Given the description of an element on the screen output the (x, y) to click on. 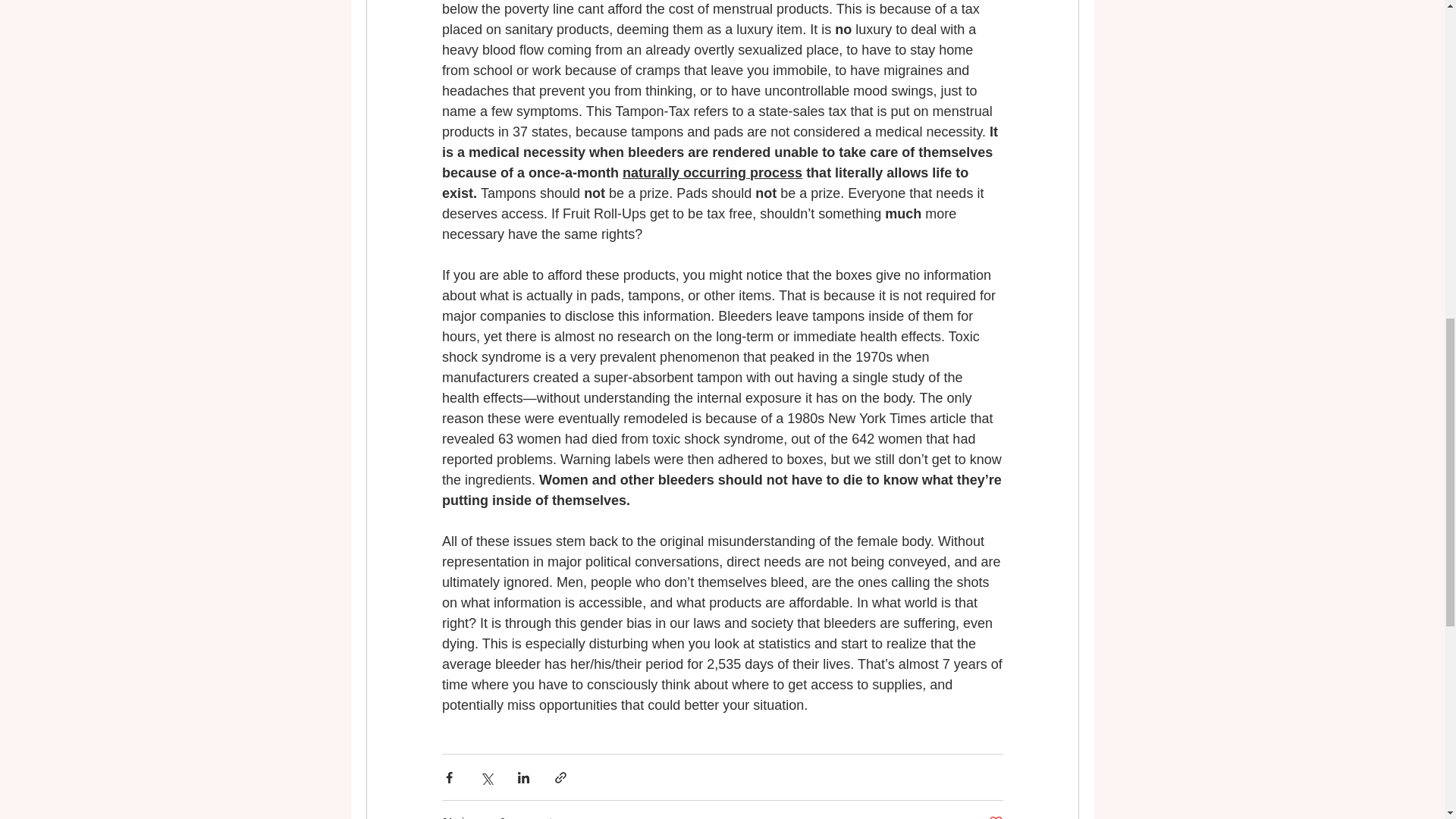
Post not marked as liked (995, 816)
